Given the description of an element on the screen output the (x, y) to click on. 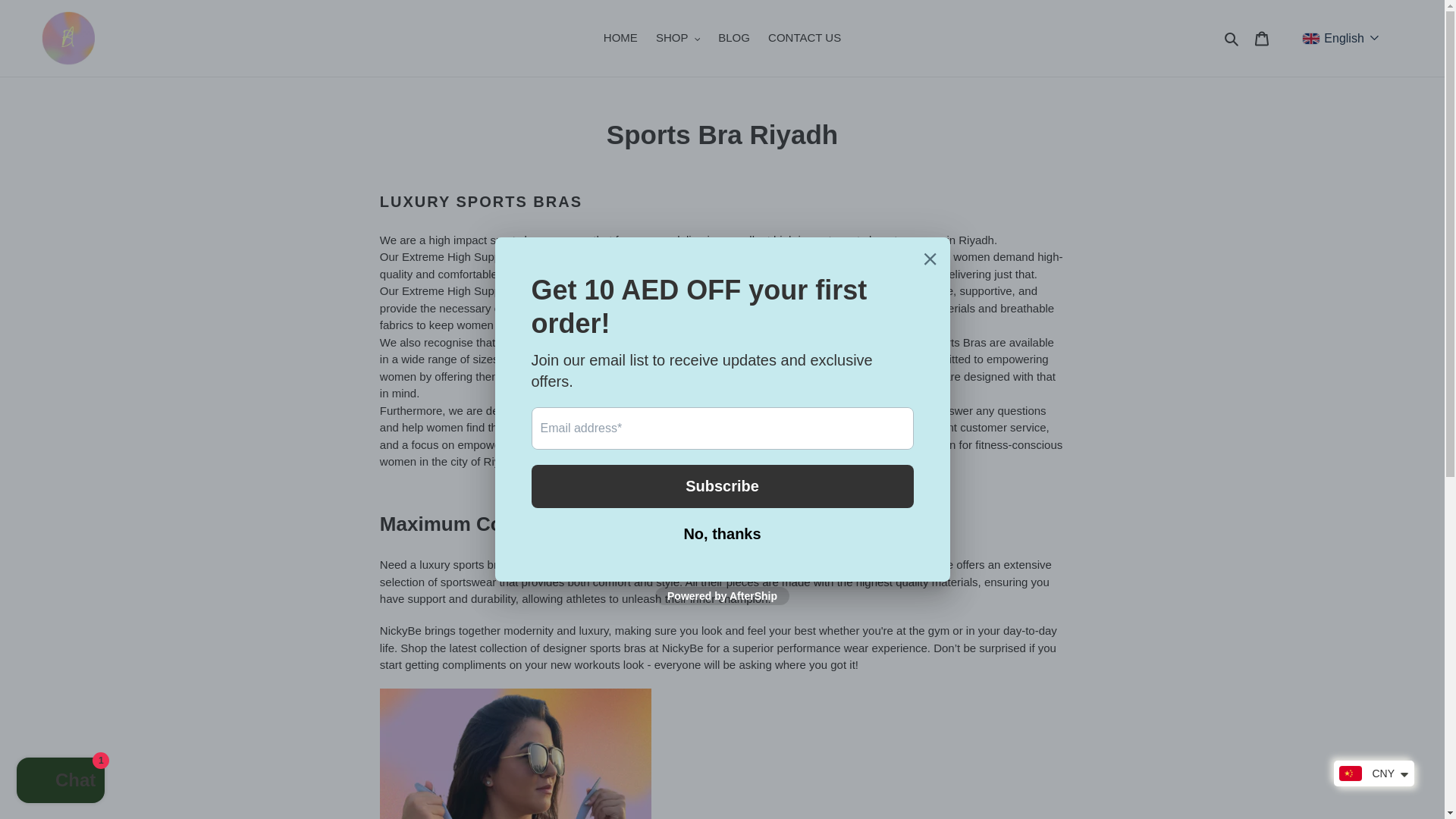
Cart (1262, 38)
Search (1233, 37)
Shopify online store chat (60, 781)
CONTACT US (804, 38)
BLOG (733, 38)
SHOP (677, 38)
HOME (620, 38)
